Given the description of an element on the screen output the (x, y) to click on. 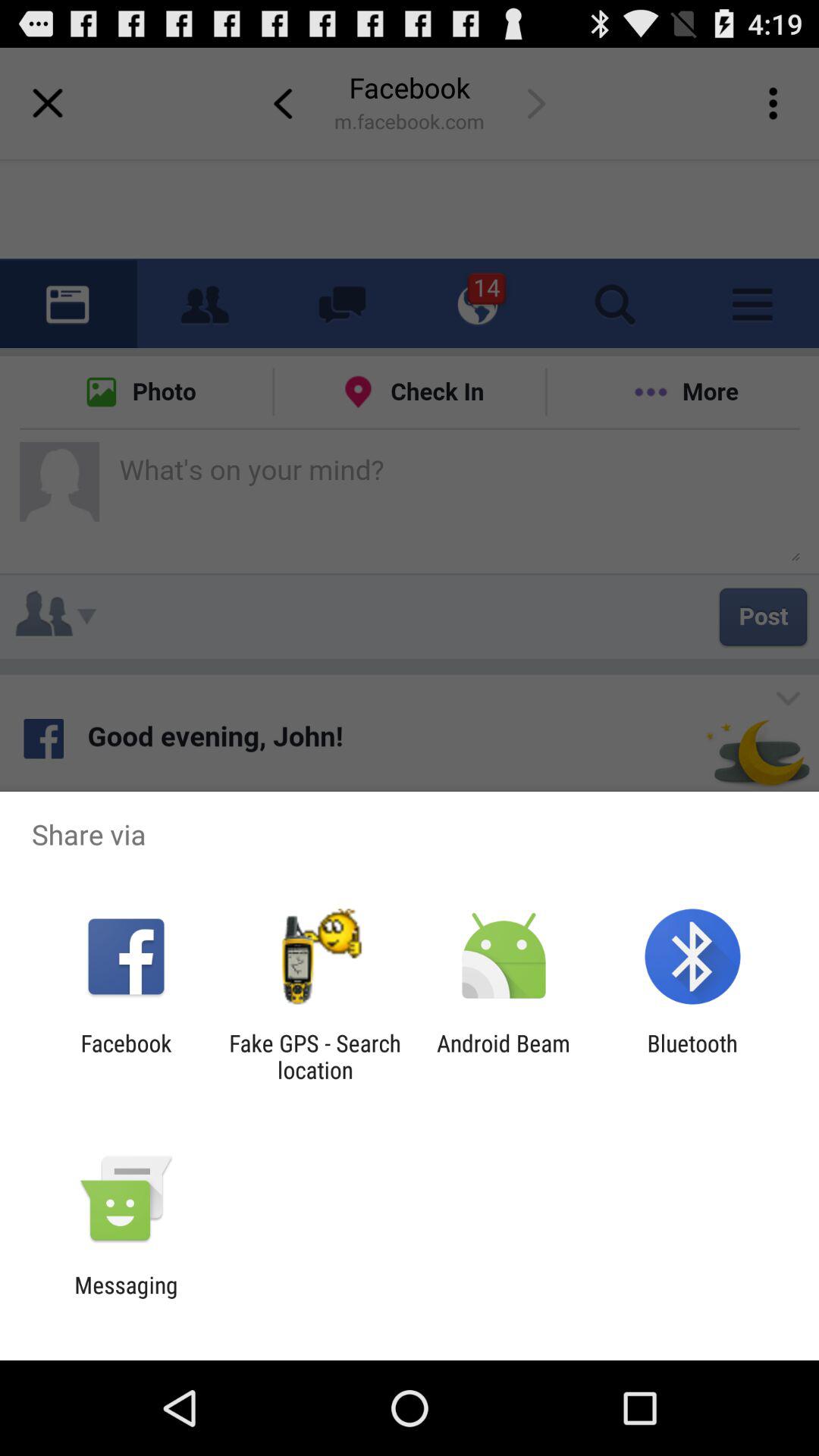
turn off item to the right of fake gps search app (503, 1056)
